Given the description of an element on the screen output the (x, y) to click on. 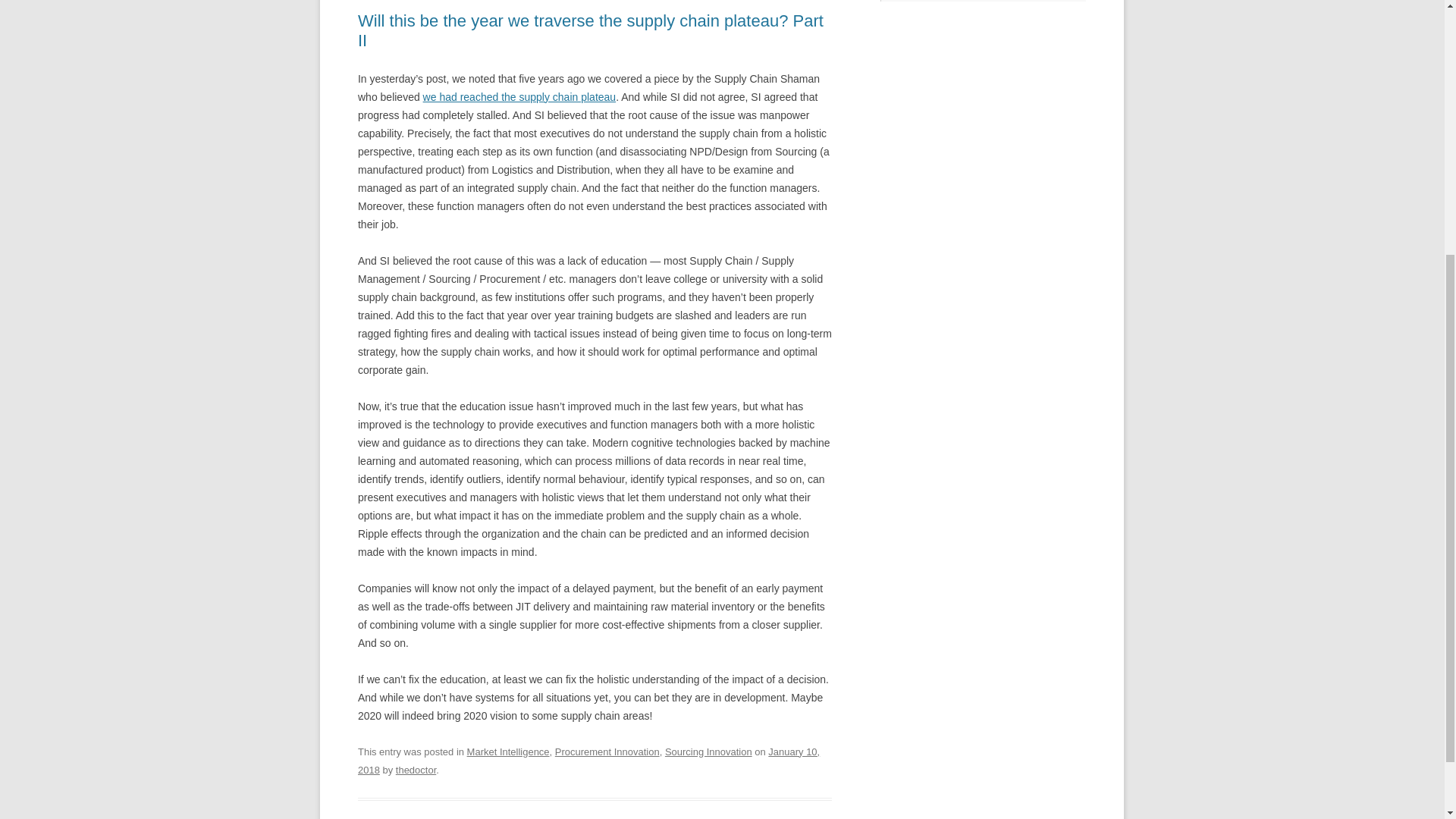
we had reached the supply chain plateau (519, 96)
thedoctor (415, 769)
January 10, 2018 (588, 760)
View all posts by thedoctor (415, 769)
5:55 am (588, 760)
Market Intelligence (508, 751)
Sourcing Innovation (708, 751)
Procurement Innovation (606, 751)
